Given the description of an element on the screen output the (x, y) to click on. 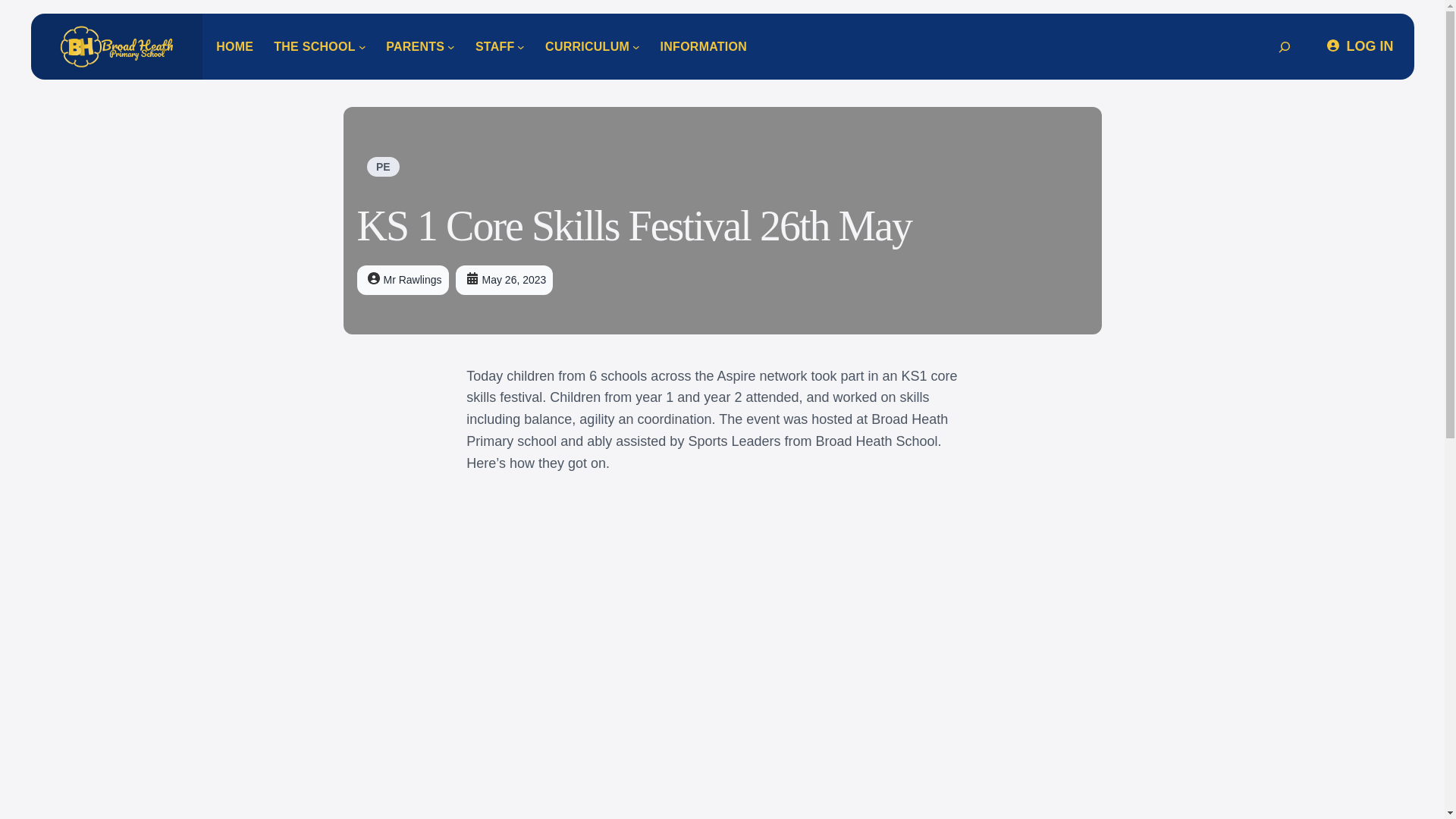
HOME (234, 46)
THE SCHOOL (314, 46)
